Given the description of an element on the screen output the (x, y) to click on. 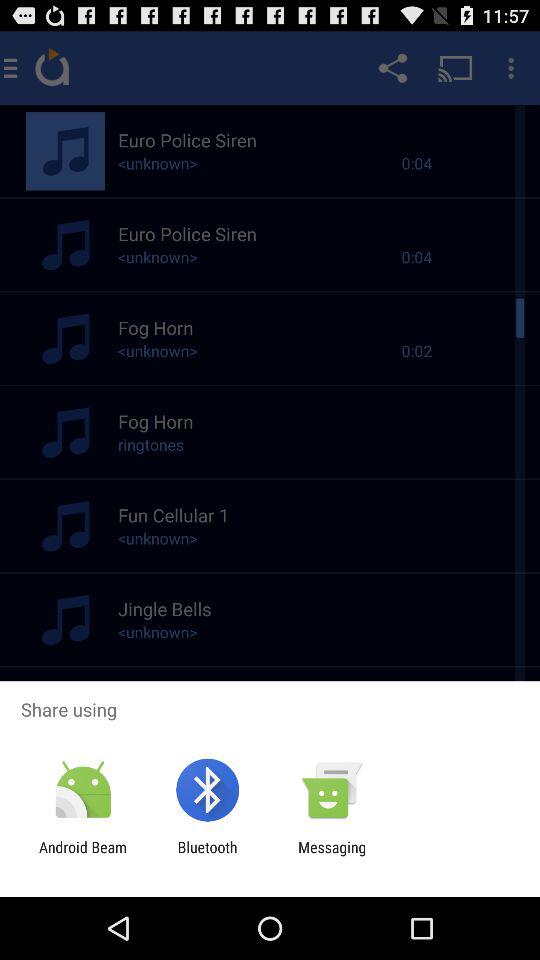
select the item to the right of the bluetooth icon (332, 856)
